Given the description of an element on the screen output the (x, y) to click on. 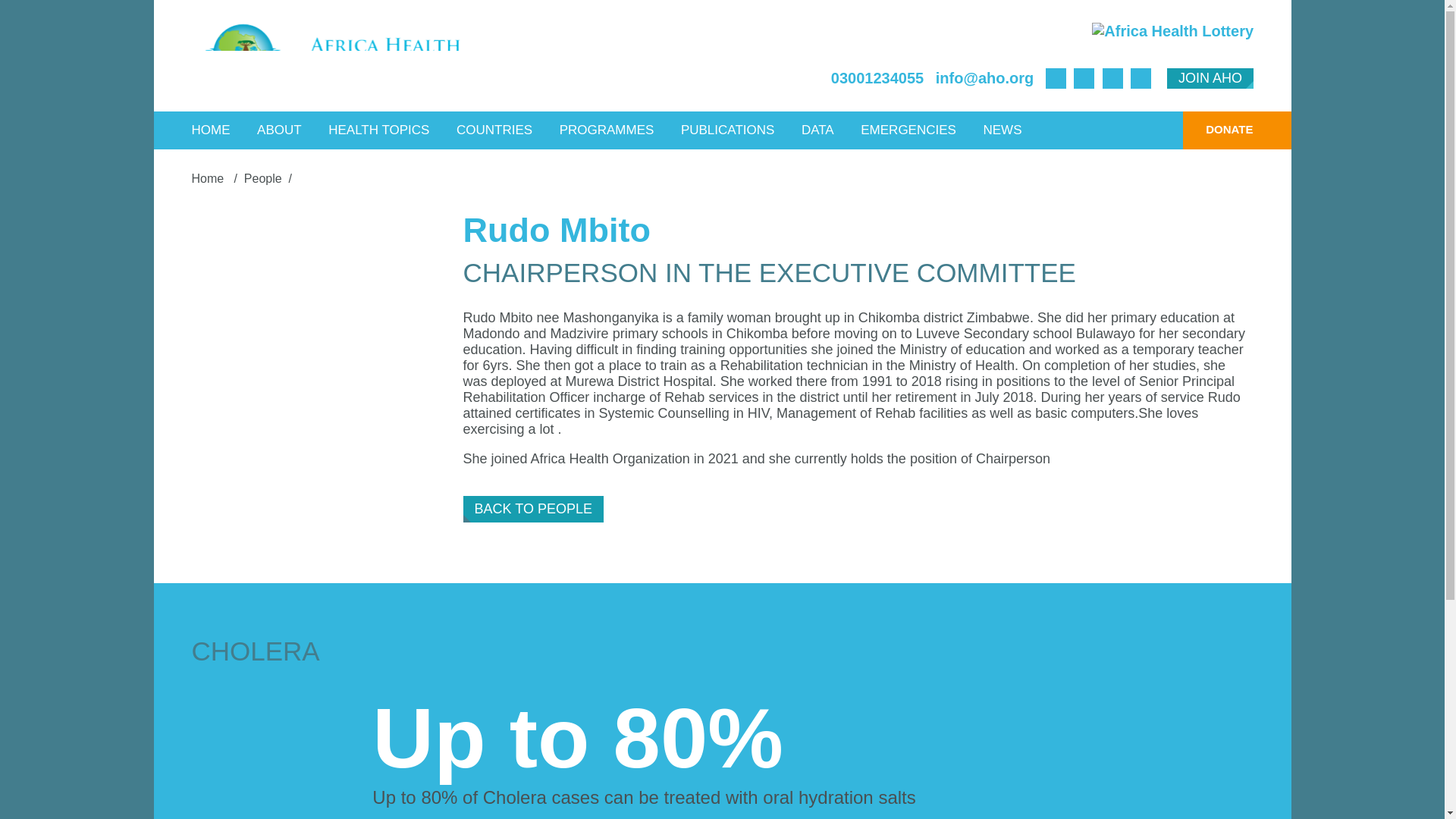
Go to Africa Health Organisation. (208, 178)
HEALTH TOPICS (379, 130)
ABOUT (279, 130)
03001234055 (877, 77)
Go to People. (263, 178)
PUBLICATIONS (727, 130)
EMERGENCIES (908, 130)
HOME (210, 130)
People (263, 178)
DONATE (1217, 130)
